Given the description of an element on the screen output the (x, y) to click on. 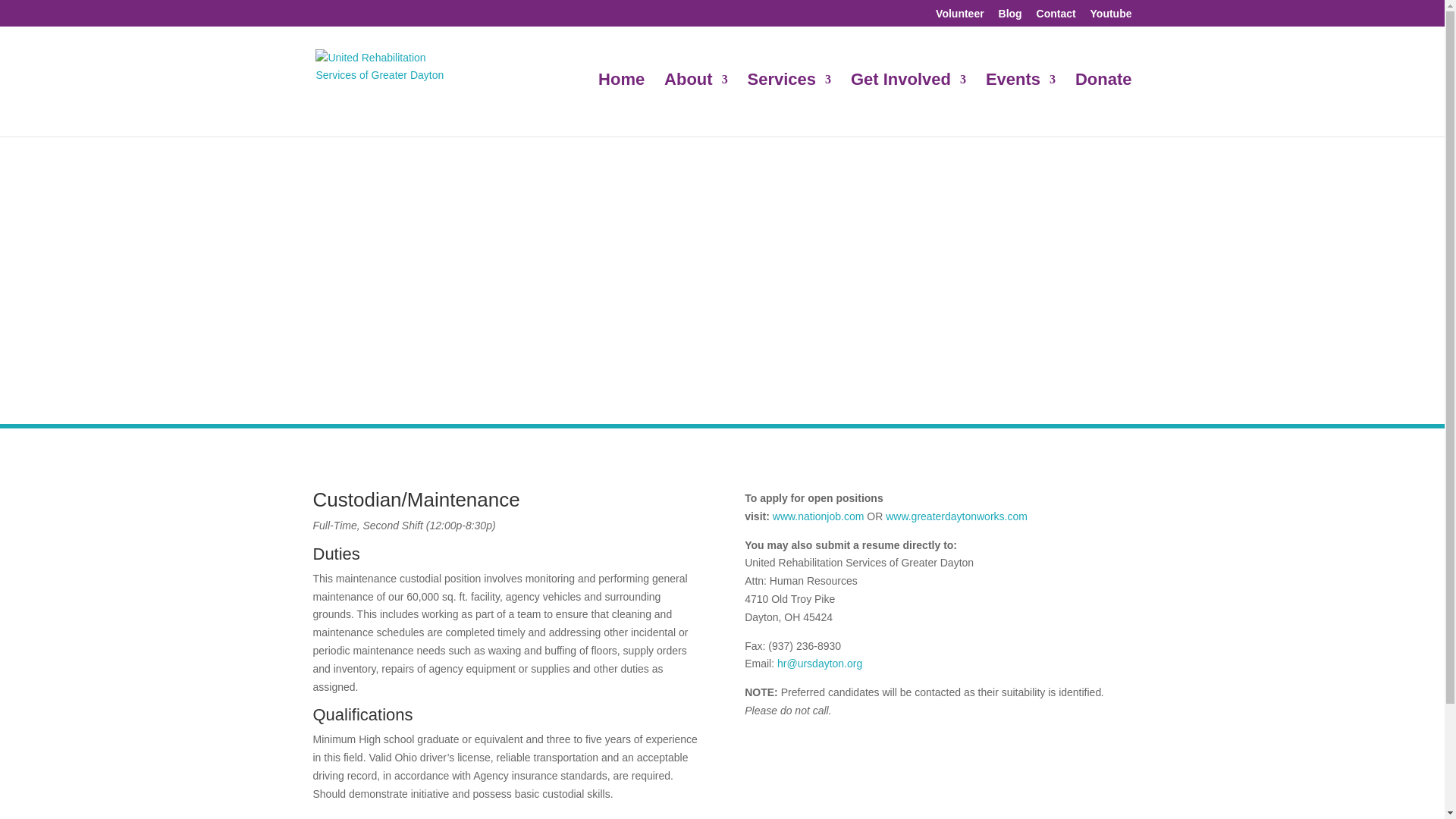
Get Involved (908, 105)
Services (789, 105)
About (695, 105)
Donate (1103, 105)
www.nationjob.com (818, 516)
Blog (1010, 16)
Volunteer (960, 16)
Youtube (1111, 16)
Events (1020, 105)
Contact (1055, 16)
